Given the description of an element on the screen output the (x, y) to click on. 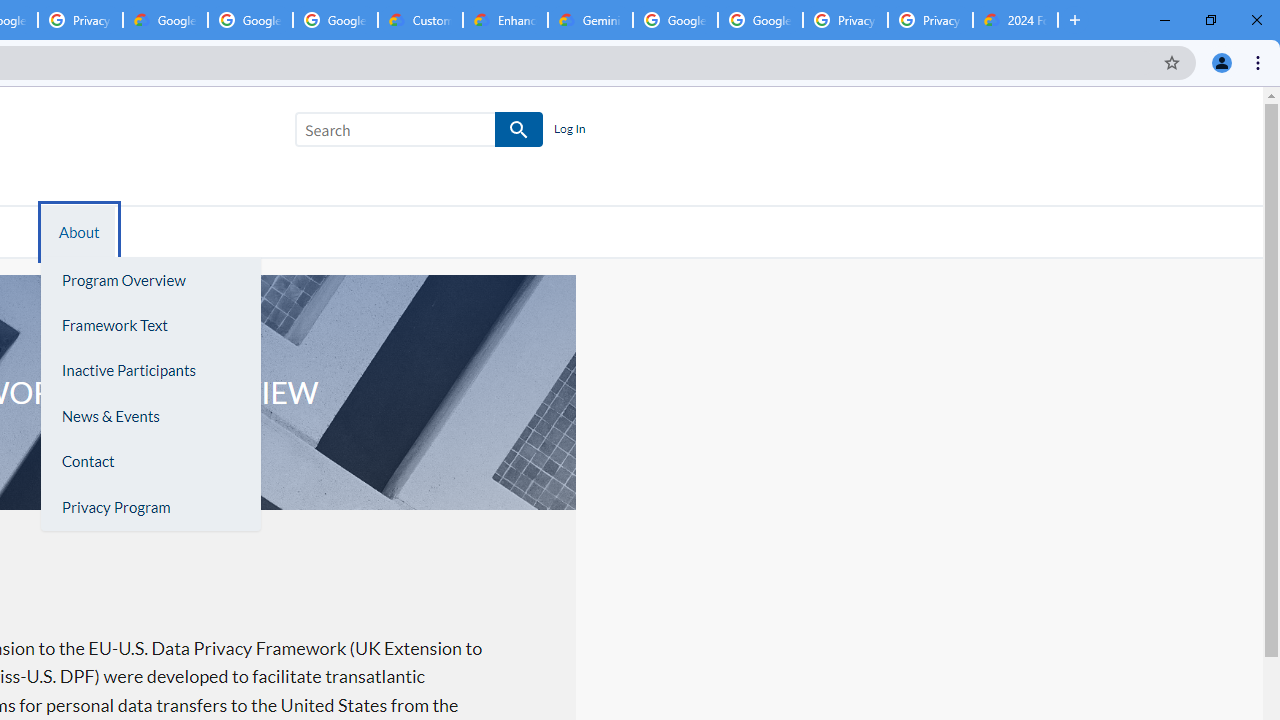
Gemini for Business and Developers | Google Cloud (590, 20)
